Given the description of an element on the screen output the (x, y) to click on. 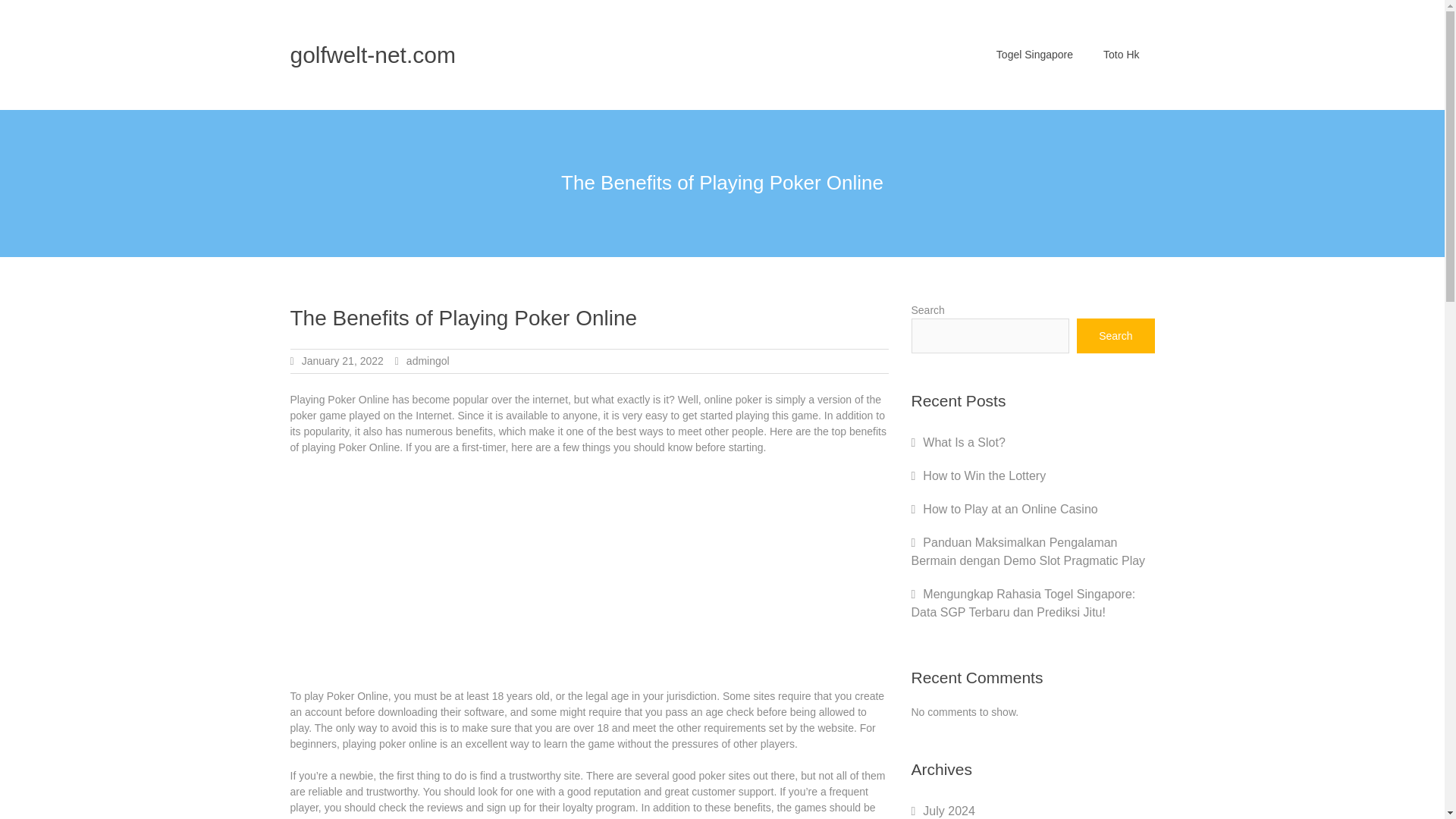
Toto Hk (1120, 55)
What Is a Slot? (964, 441)
July 2024 (949, 810)
admingol (427, 360)
Search (1115, 335)
Togel Singapore (1034, 55)
How to Win the Lottery (984, 475)
How to Play at an Online Casino (1010, 508)
January 21, 2022 (342, 360)
golfwelt-net.com (371, 54)
